Given the description of an element on the screen output the (x, y) to click on. 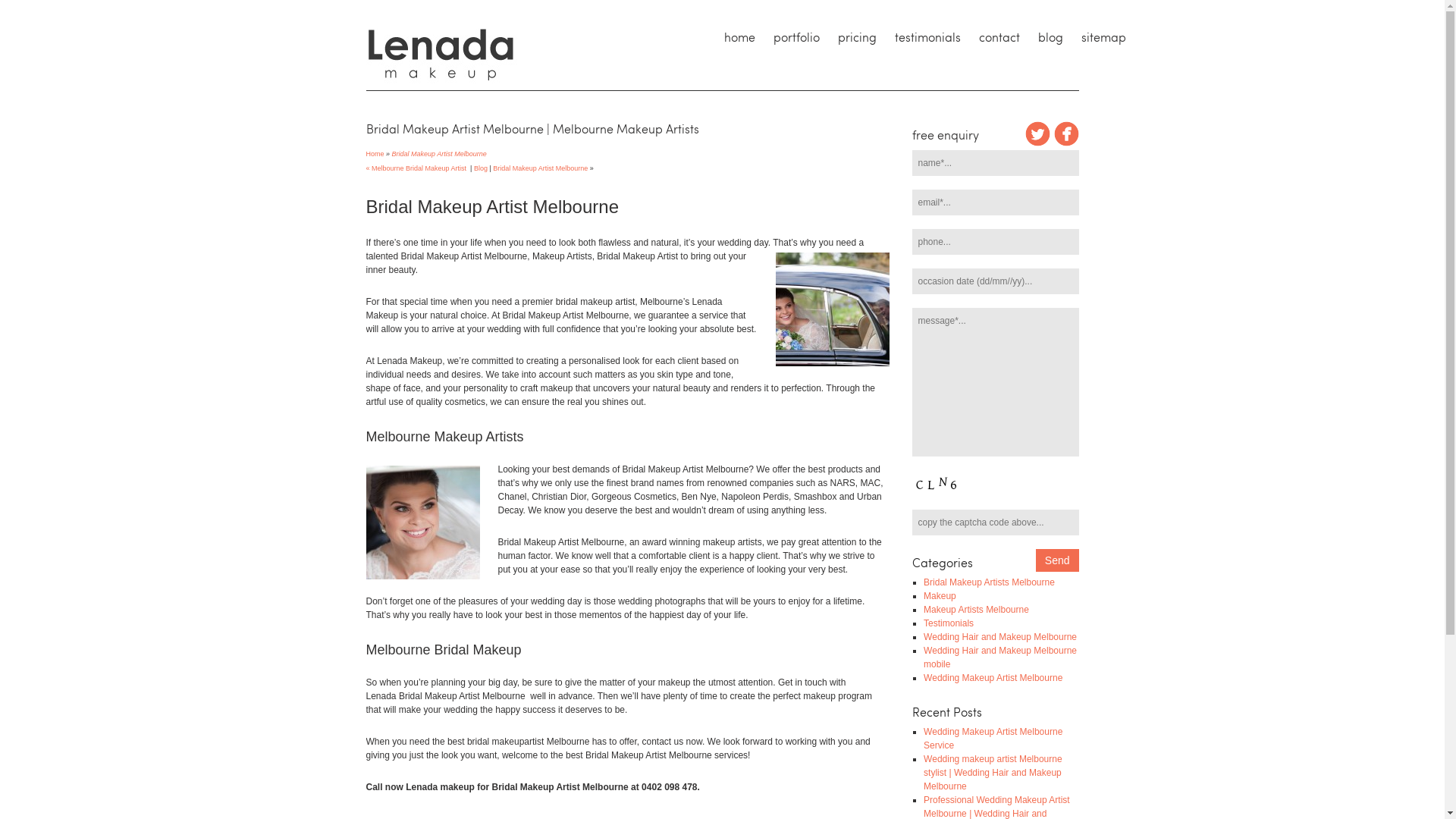
portfolio Element type: text (796, 36)
home Element type: text (738, 36)
Makeup Artists Melbourne Element type: text (976, 609)
Wedding Makeup Artist Melbourne Service Element type: text (992, 738)
Makeup Element type: text (939, 595)
Bridal Makeup Artists Melbourne Element type: text (988, 582)
sitemap Element type: text (1103, 36)
Wedding Hair and Makeup Melbourne Element type: text (999, 636)
contact Element type: text (998, 36)
Send Element type: text (1057, 560)
Wedding Hair and Makeup Melbourne mobile Element type: text (999, 657)
Wedding Makeup Artist Melbourne Element type: text (992, 677)
blog Element type: text (1049, 36)
 Bridal Makeup Artist Melbourne  Element type: text (438, 153)
testimonials Element type: text (927, 36)
Bridal Makeup Artist Melbourne Element type: text (539, 168)
Home Element type: text (374, 152)
Blog Element type: text (480, 168)
Testimonials Element type: text (948, 623)
pricing Element type: text (856, 36)
